Given the description of an element on the screen output the (x, y) to click on. 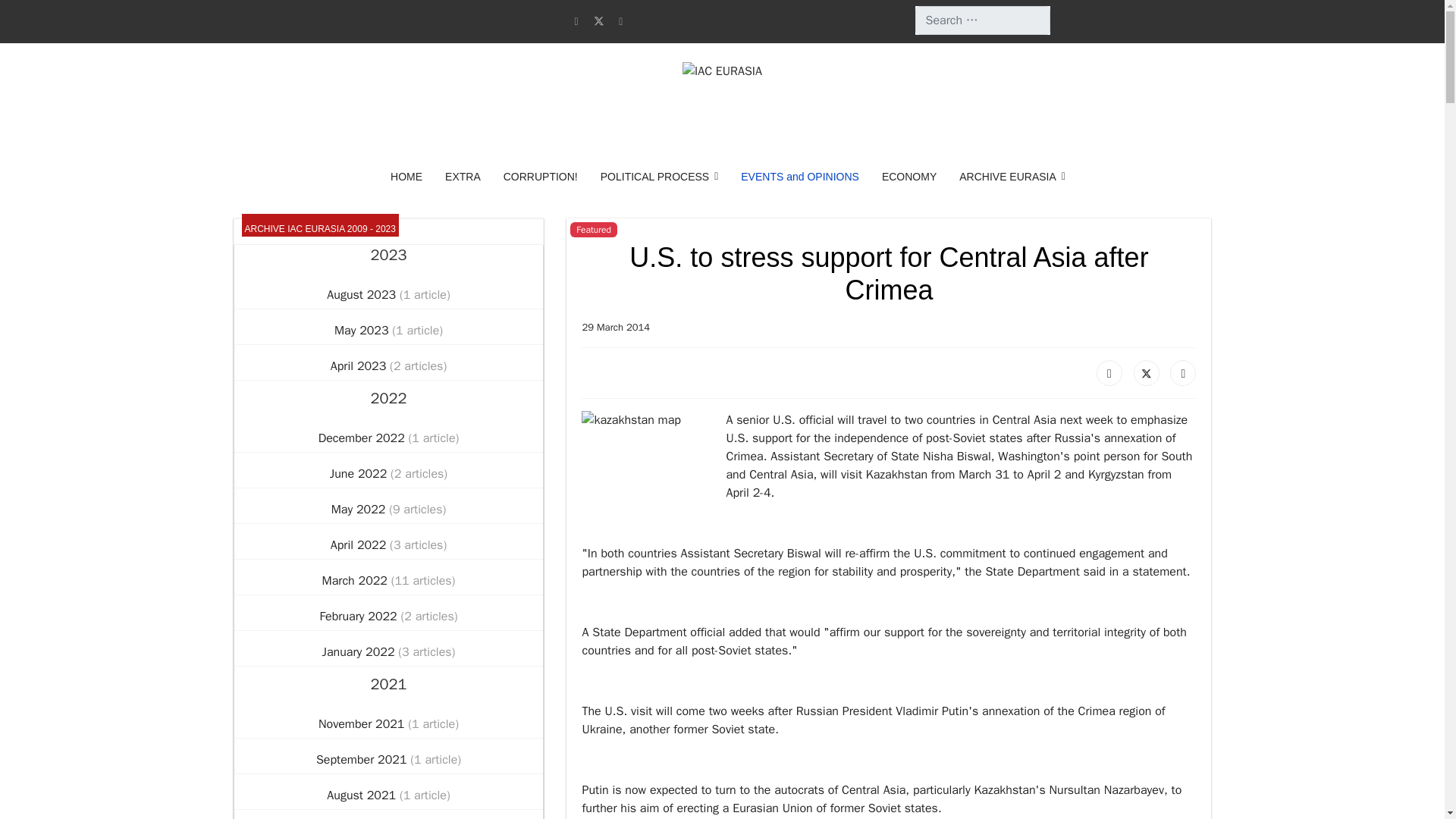
December 2022 (363, 438)
November 2021 (362, 723)
Facebook (1109, 372)
EVENTS and OPINIONS (799, 176)
March 2022 (356, 580)
LinkedIn (1182, 372)
ECONOMY (908, 176)
January 2022 (359, 651)
June 2022 (360, 474)
April 2023 (360, 366)
